Given the description of an element on the screen output the (x, y) to click on. 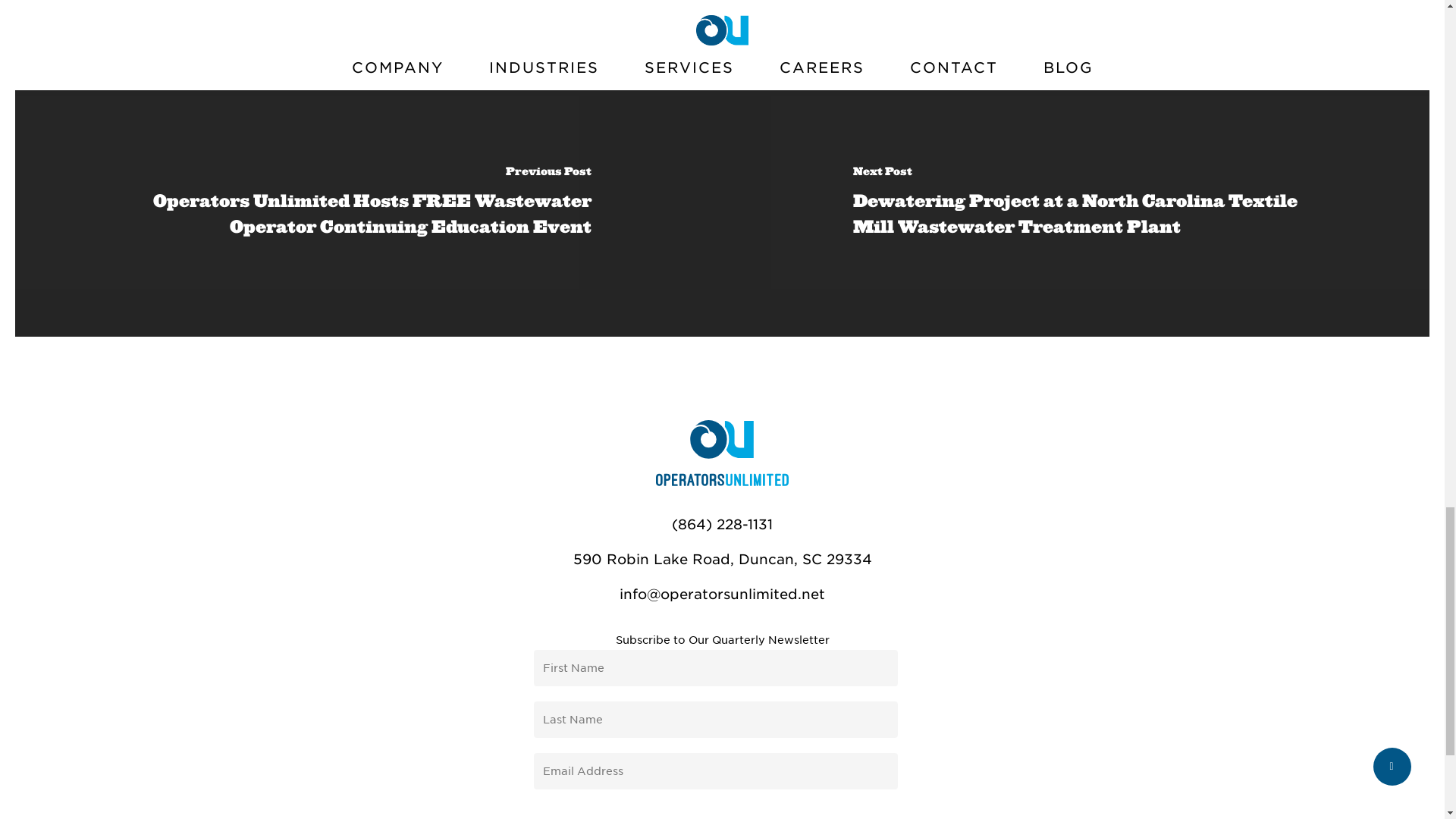
Subscribe (721, 811)
Home (722, 481)
